Given the description of an element on the screen output the (x, y) to click on. 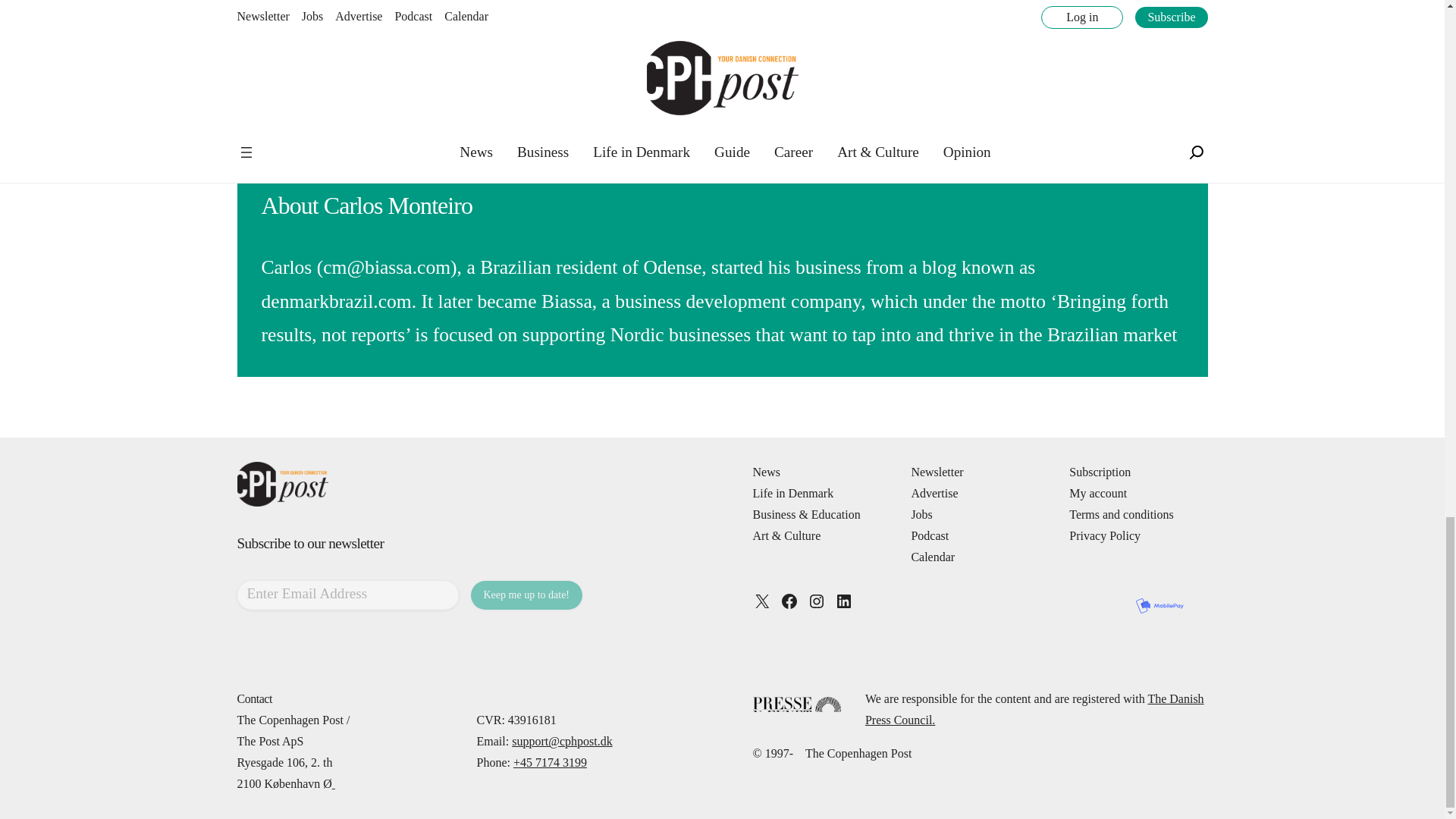
Keep me up to date! (526, 594)
